Given the description of an element on the screen output the (x, y) to click on. 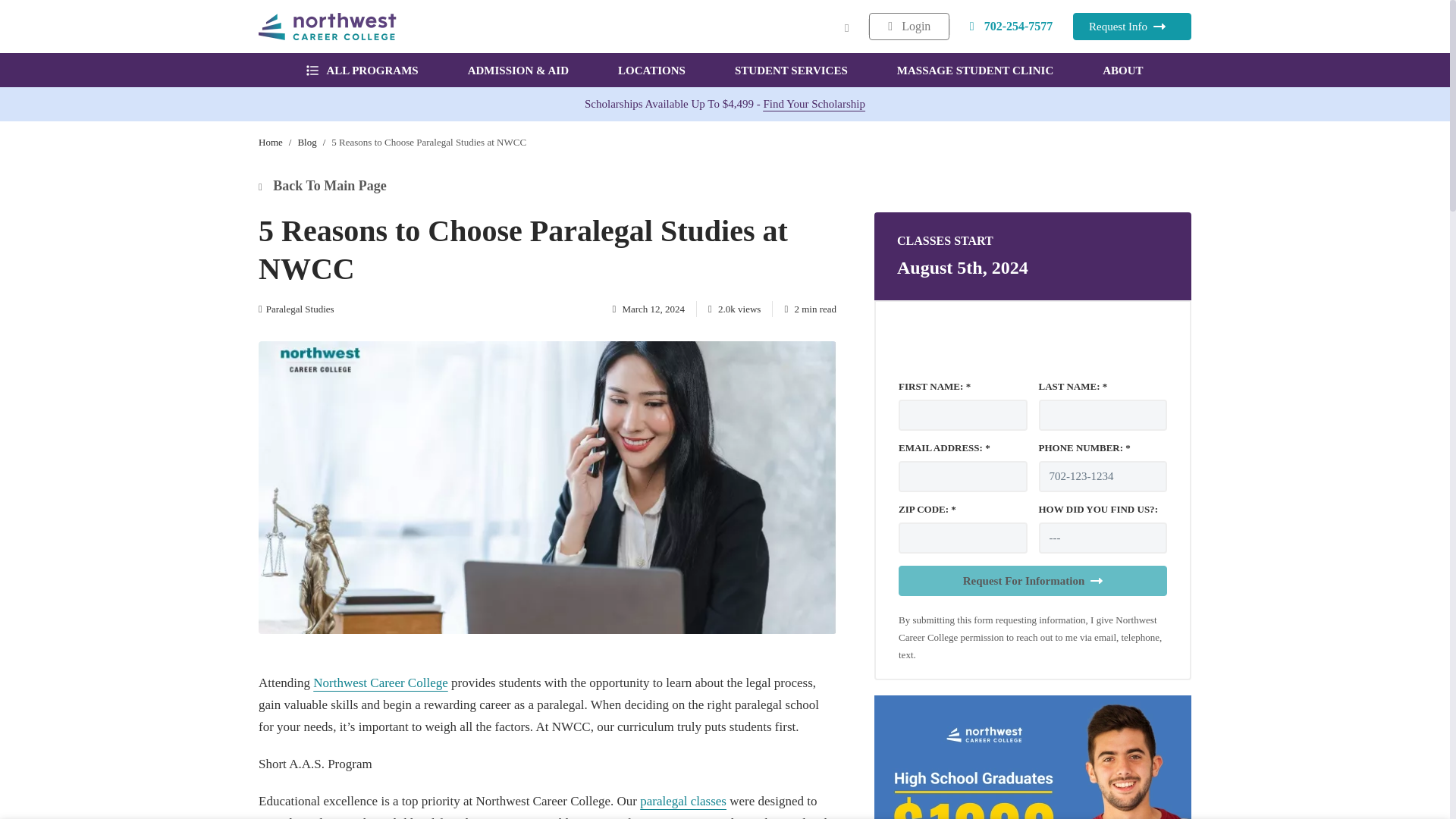
5 Reasons to Choose Paralegal Studies at NWCC (428, 142)
Login (909, 26)
Blog (306, 142)
ALL PROGRAMS (362, 69)
Request Info (1132, 26)
702-254-7577 (1011, 26)
